Given the description of an element on the screen output the (x, y) to click on. 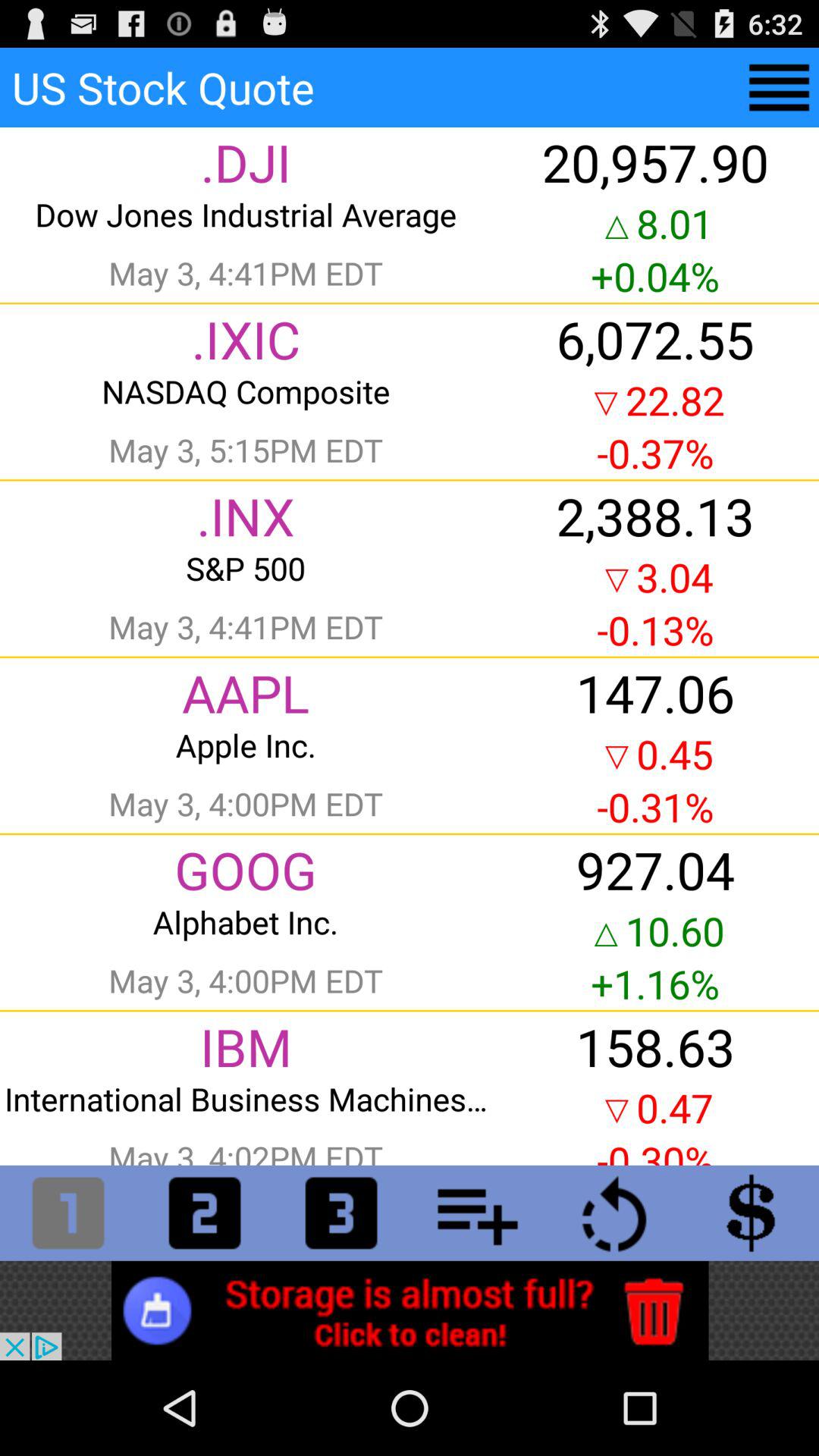
go to advertisement (409, 1310)
